Given the description of an element on the screen output the (x, y) to click on. 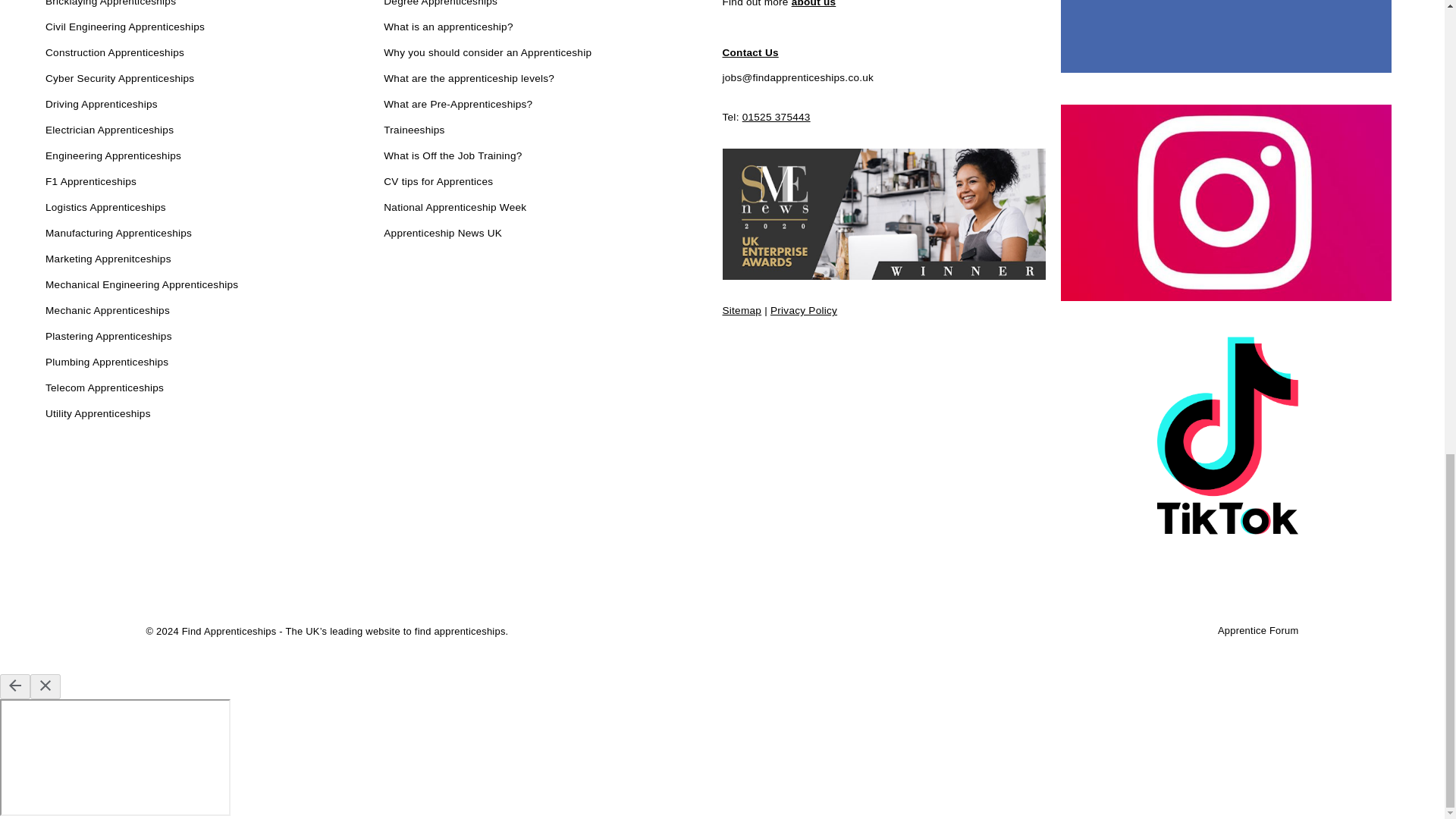
Bricklaying Apprenticeships (110, 6)
Cyber Security Apprenticeships (119, 79)
Construction Apprenticeships (114, 53)
Civil Engineering Apprenticeships (125, 27)
Driving Apprenticeships (101, 105)
